Given the description of an element on the screen output the (x, y) to click on. 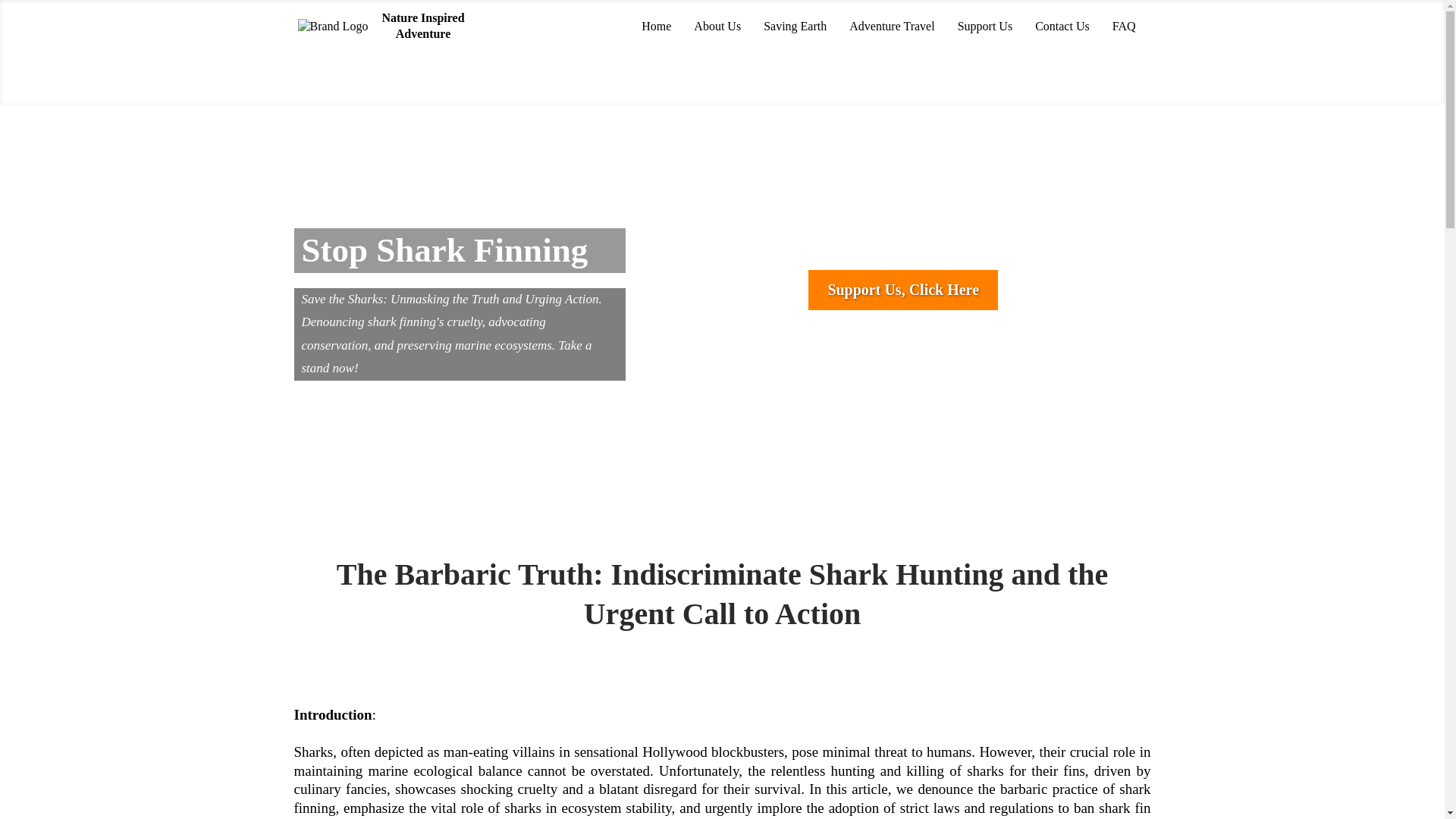
Contact Us (1061, 26)
Adventure Travel (891, 26)
Support Us, Click Here (902, 290)
Home (656, 26)
Support Us (984, 26)
About Us (717, 26)
FAQ (1123, 26)
Saving Earth (795, 26)
